Given the description of an element on the screen output the (x, y) to click on. 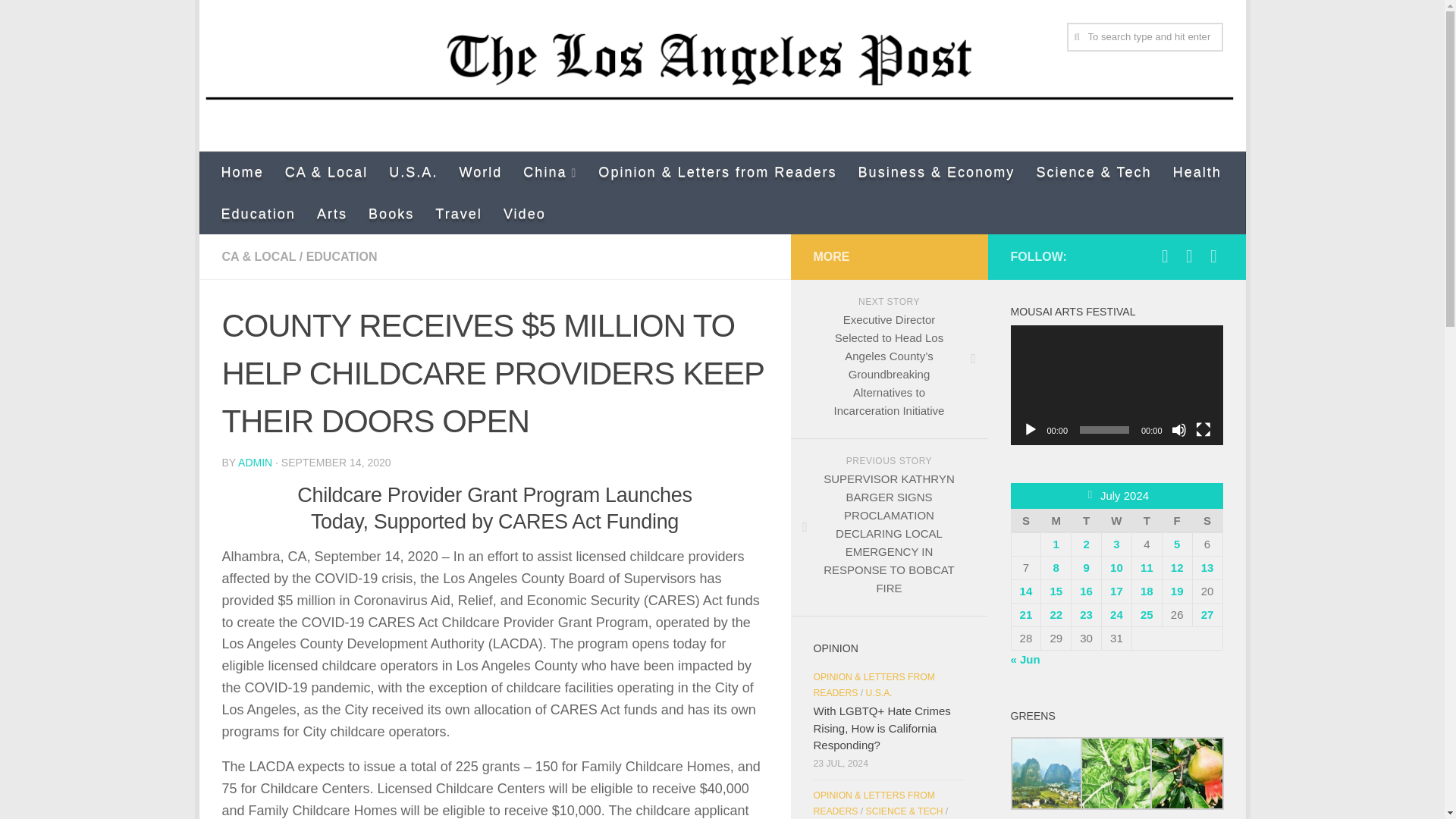
Fullscreen (1202, 429)
China (550, 172)
Friday (1176, 520)
Follow us on Weixin (1213, 256)
Follow us on Google-plus (1188, 256)
Posts by admin (255, 462)
Travel (459, 213)
U.S.A. (413, 172)
Education (258, 213)
To search type and hit enter (1144, 36)
Wednesday (1117, 520)
Sunday (1025, 520)
Tuesday (1086, 520)
Home (243, 172)
Books (391, 213)
